Given the description of an element on the screen output the (x, y) to click on. 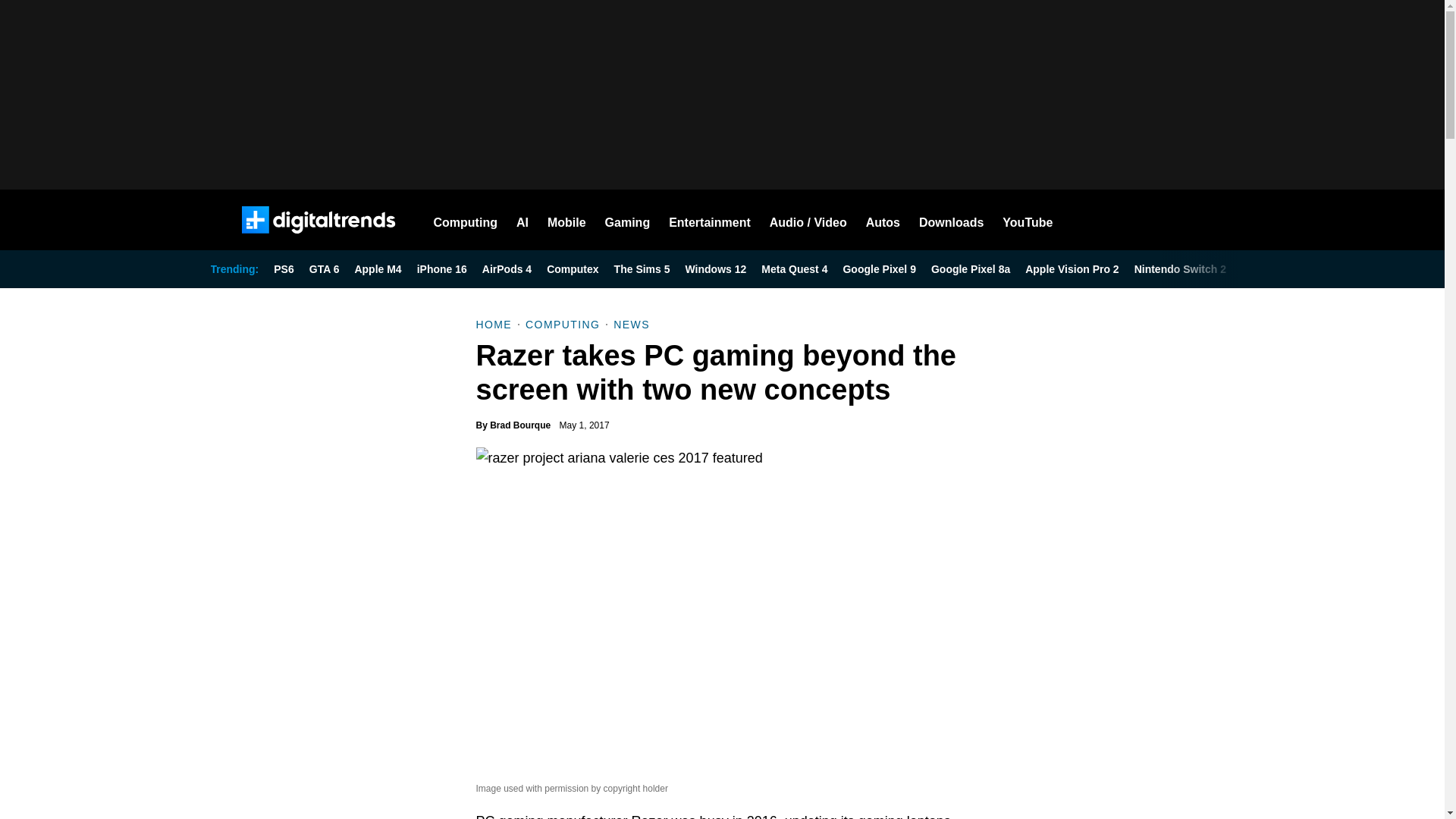
Computing (465, 219)
Autos (882, 219)
Gaming (627, 219)
Mobile (566, 219)
Downloads (951, 219)
Entertainment (709, 219)
YouTube (1027, 219)
AI (522, 219)
